Given the description of an element on the screen output the (x, y) to click on. 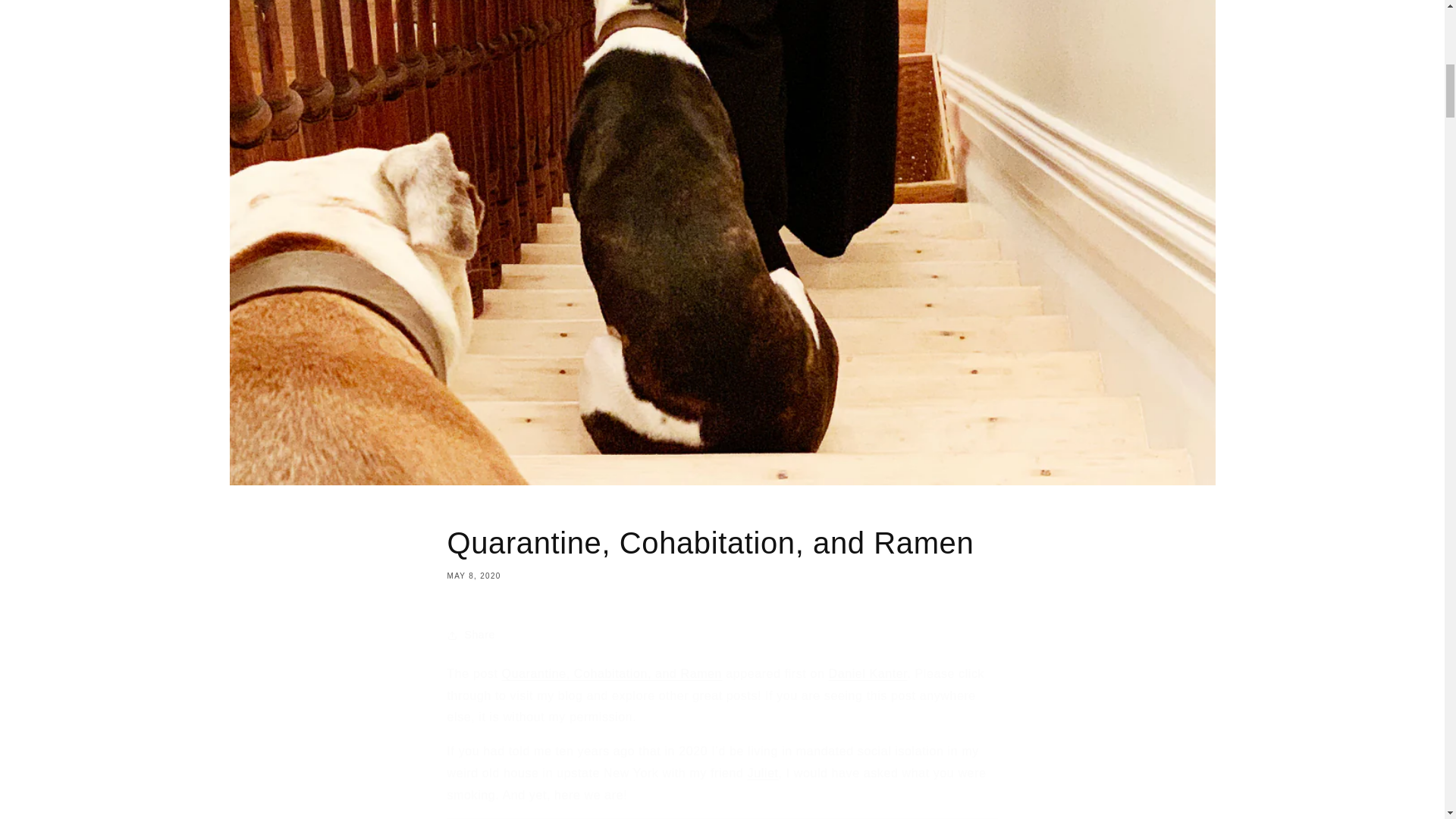
Quarantine, Cohabitation, and Ramen (612, 673)
Juliet (763, 772)
Share (721, 635)
Daniel Kanter (721, 551)
